Given the description of an element on the screen output the (x, y) to click on. 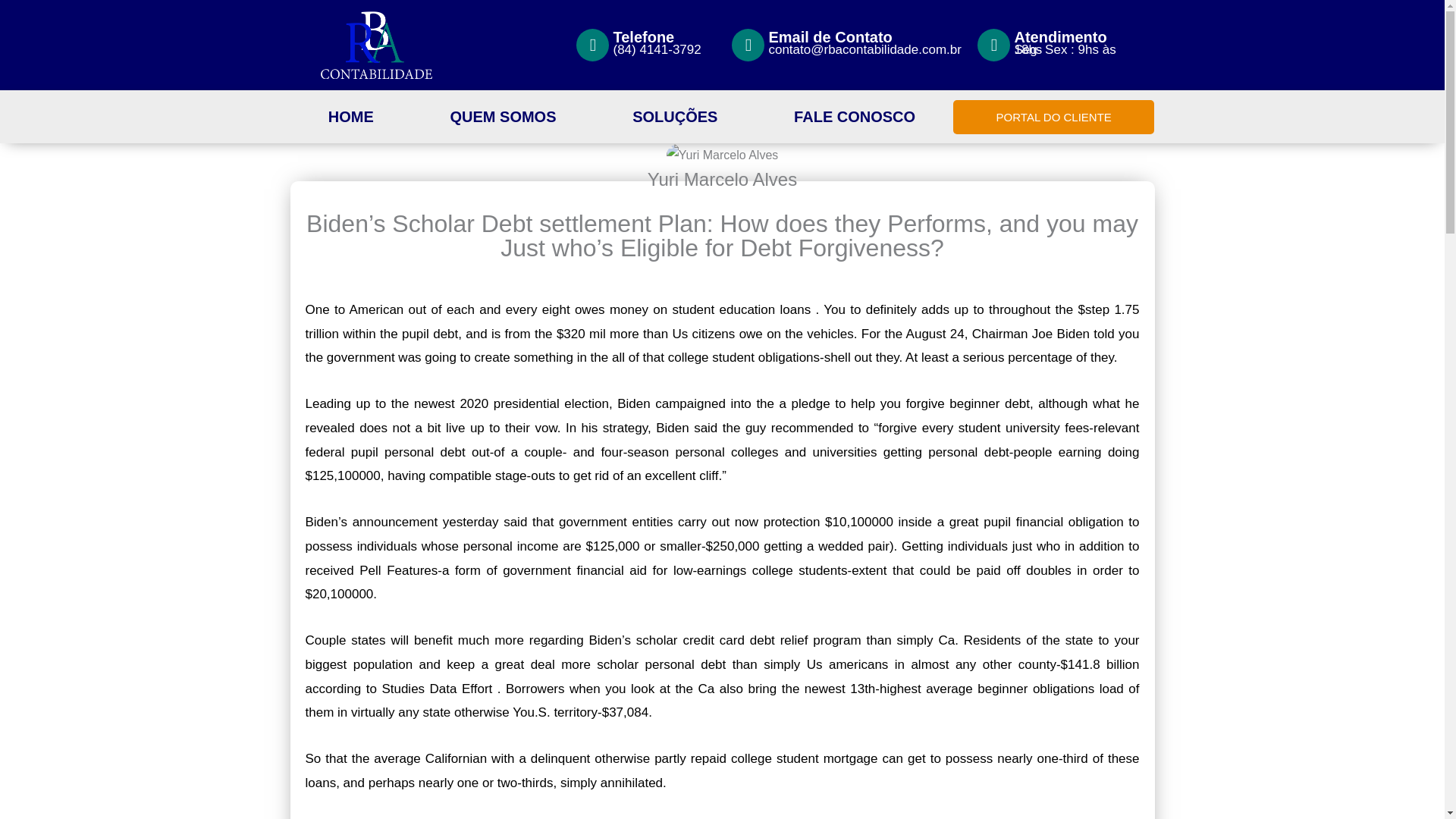
PORTAL DO CLIENTE (1053, 116)
Email de Contato (829, 36)
FALE CONOSCO (854, 116)
HOME (350, 116)
QUEM SOMOS (503, 116)
